Given the description of an element on the screen output the (x, y) to click on. 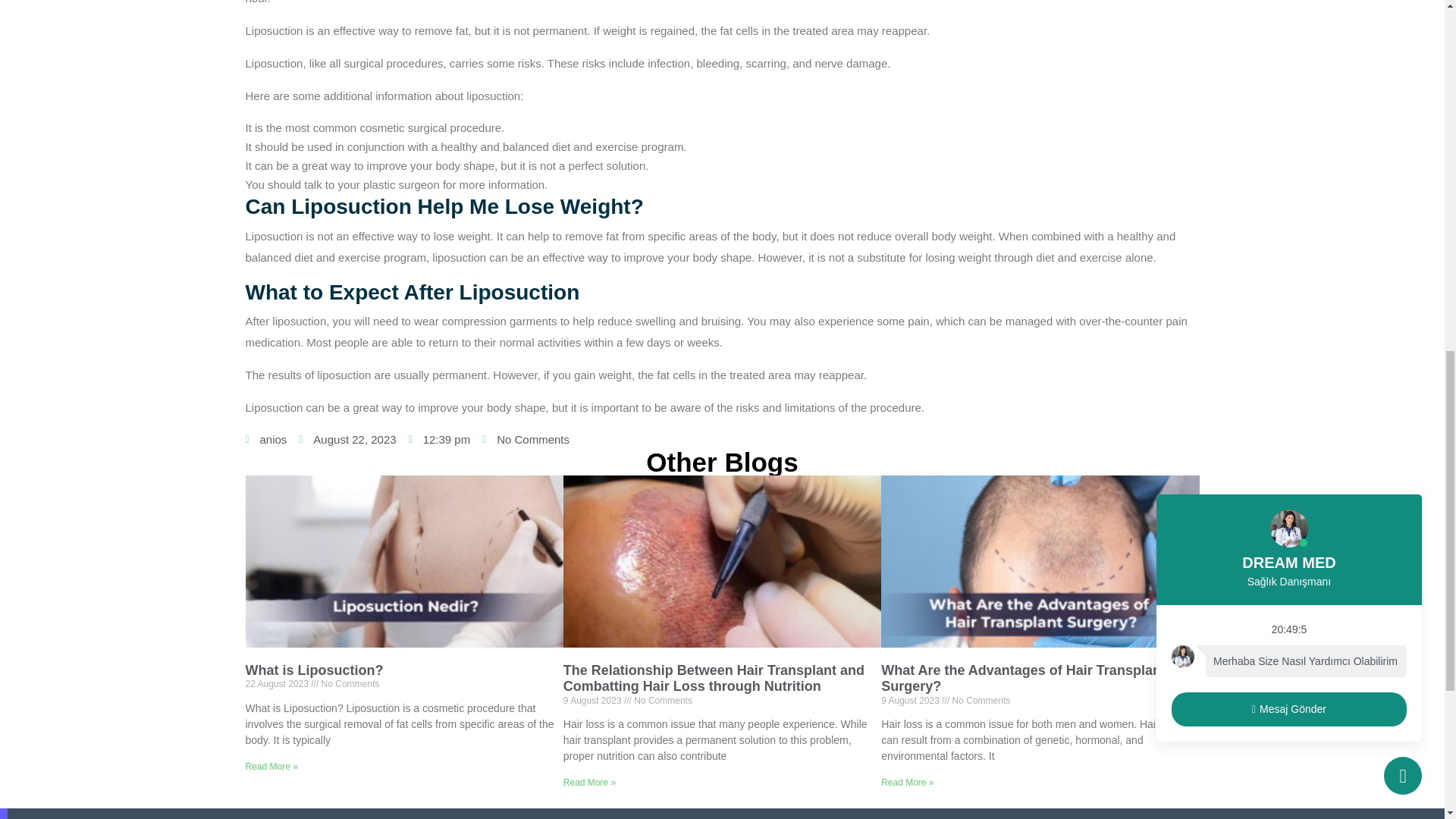
No Comments (525, 438)
What Are the Advantages of Hair Transplant Surgery? (1023, 678)
anios (266, 438)
August 22, 2023 (347, 438)
What is Liposuction? (315, 670)
